Given the description of an element on the screen output the (x, y) to click on. 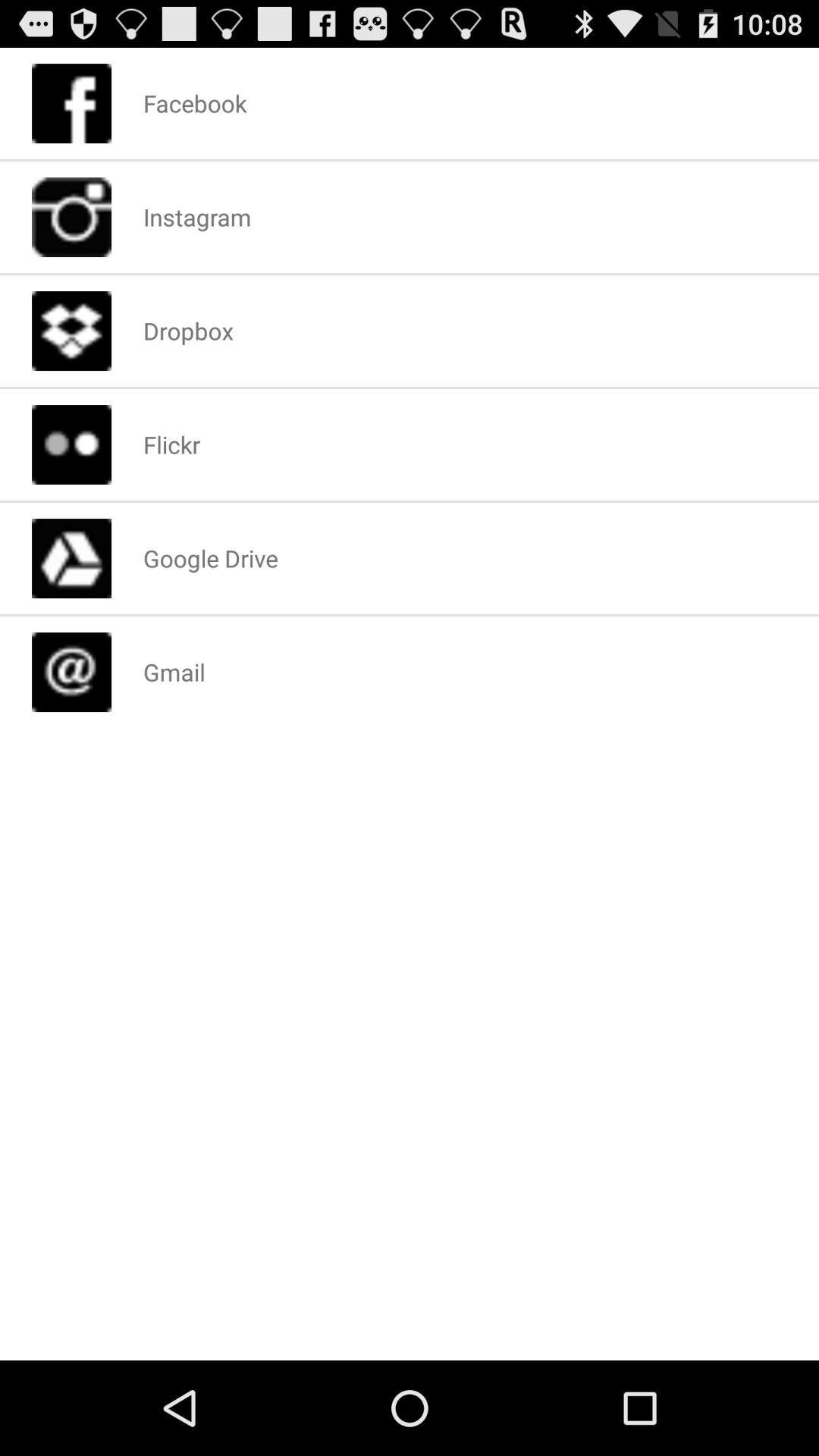
choose icon above flickr icon (188, 330)
